Given the description of an element on the screen output the (x, y) to click on. 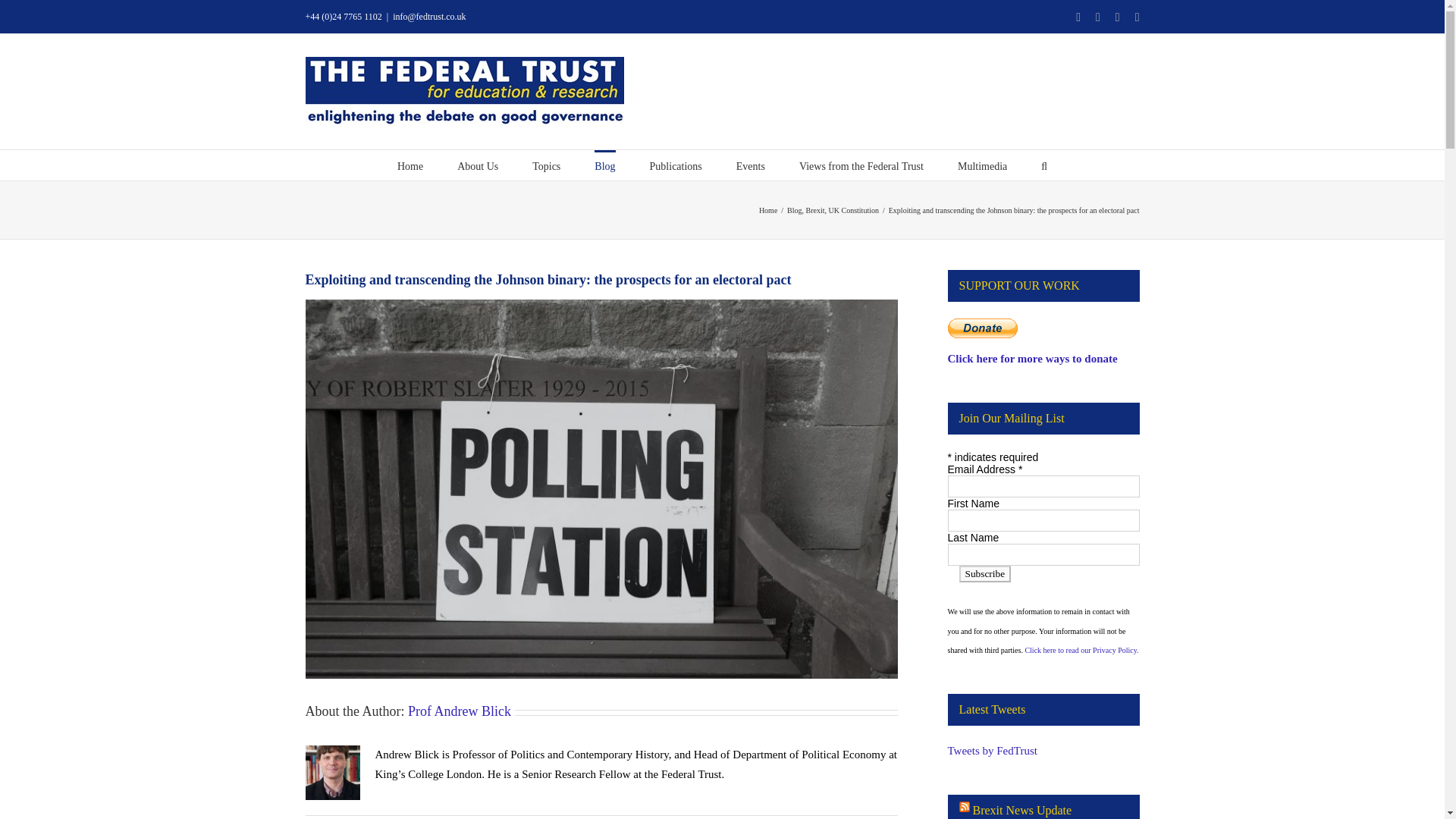
About Us (477, 164)
Topics (546, 164)
Posts by Prof Andrew Blick (459, 711)
Subscribe (984, 573)
